Given the description of an element on the screen output the (x, y) to click on. 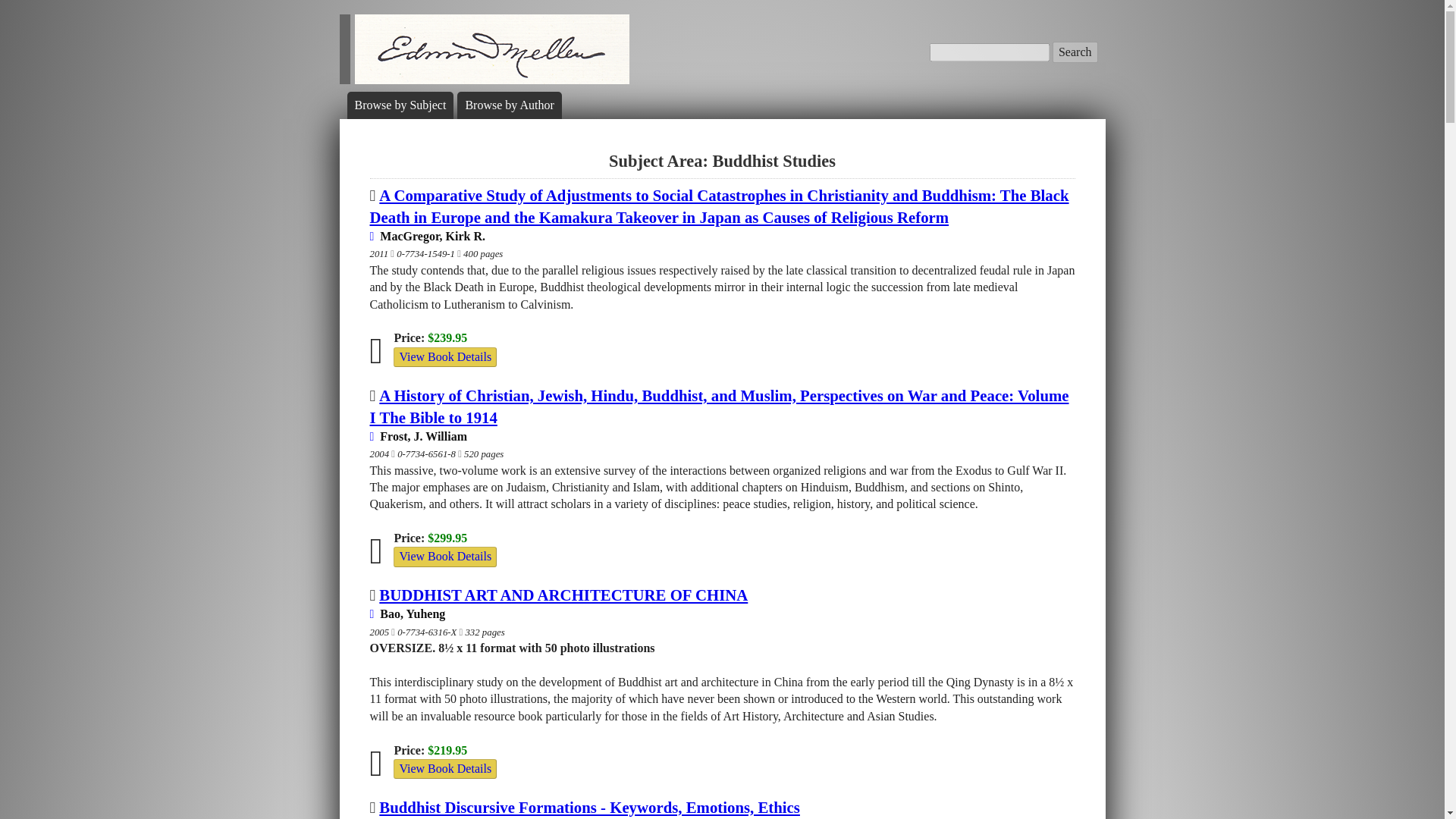
Browse by Subject (400, 105)
 Bao, Yuheng (407, 613)
Search (1074, 52)
View Book Details (444, 768)
View Book Details (444, 356)
View Book Details (444, 556)
Buddhist Discursive Formations - Keywords, Emotions, Ethics (588, 806)
Browse by Author (508, 105)
